Given the description of an element on the screen output the (x, y) to click on. 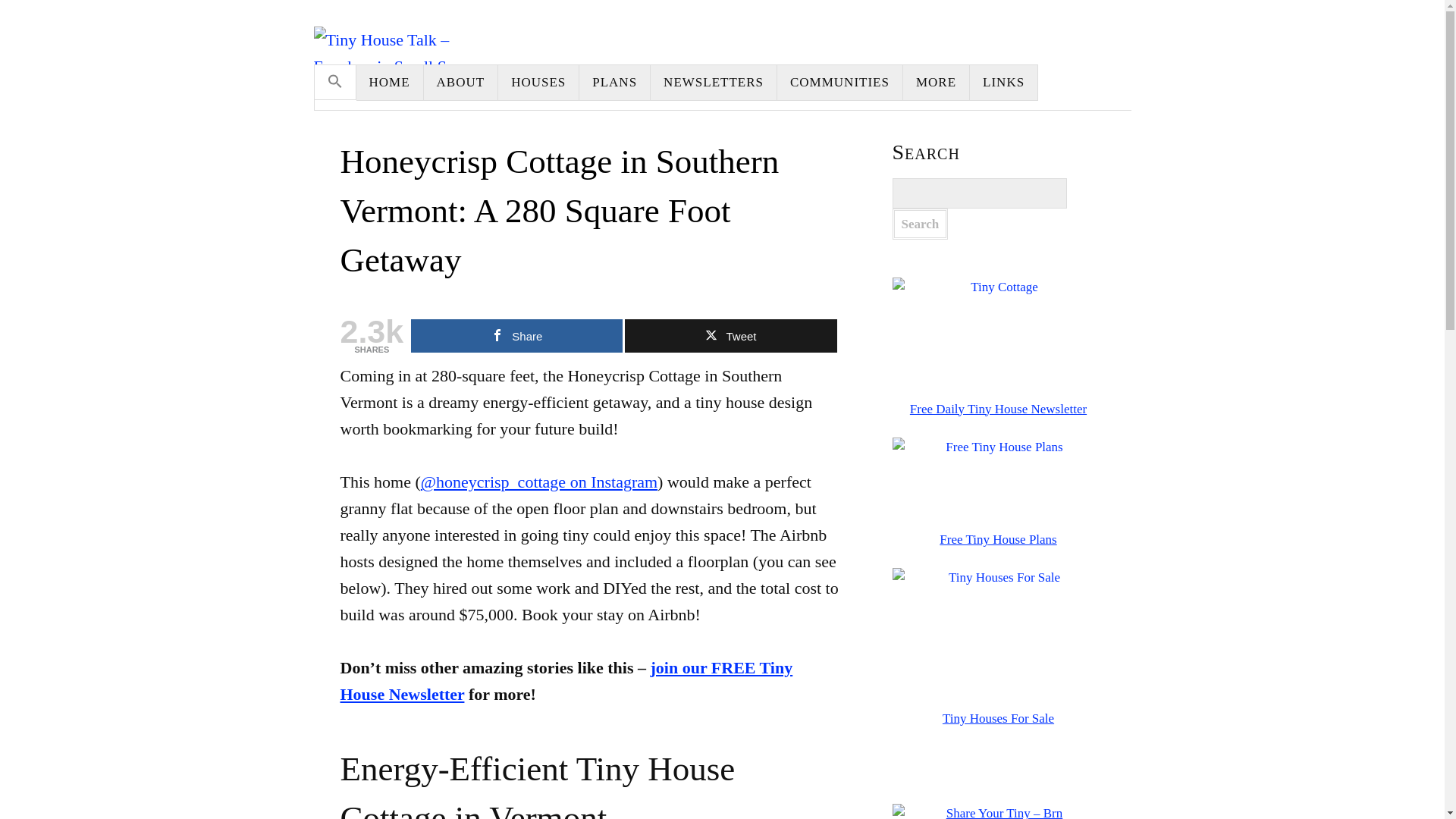
NEWSLETTERS (713, 82)
HOME (389, 82)
ABOUT (461, 82)
MORE (935, 82)
COMMUNITIES (839, 82)
HOUSES (538, 82)
Search (919, 223)
PLANS (614, 82)
